Given the description of an element on the screen output the (x, y) to click on. 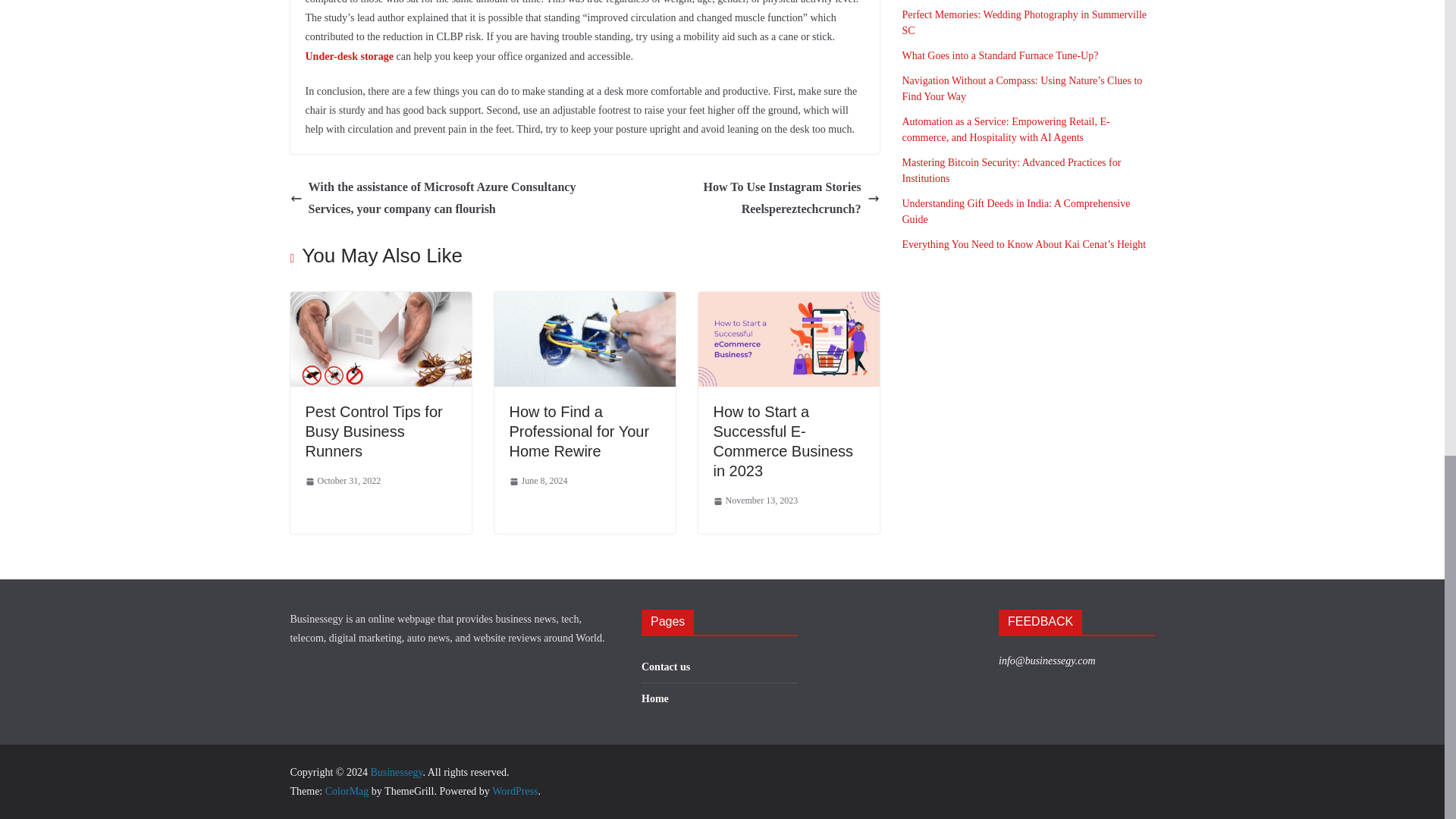
How to Start a Successful E-Commerce Business in 2023 (788, 301)
Pest Control Tips for Busy Business Runners (373, 431)
How to Start a Successful E-Commerce Business in 2023 (783, 441)
How to Start a Successful E-Commerce Business in 2023 (783, 441)
Pest Control Tips for Busy Business Runners (379, 301)
6:43 pm (342, 481)
November 13, 2023 (755, 501)
How To Use Instagram Stories Reelspereztechcrunch? (735, 198)
October 31, 2022 (342, 481)
